Given the description of an element on the screen output the (x, y) to click on. 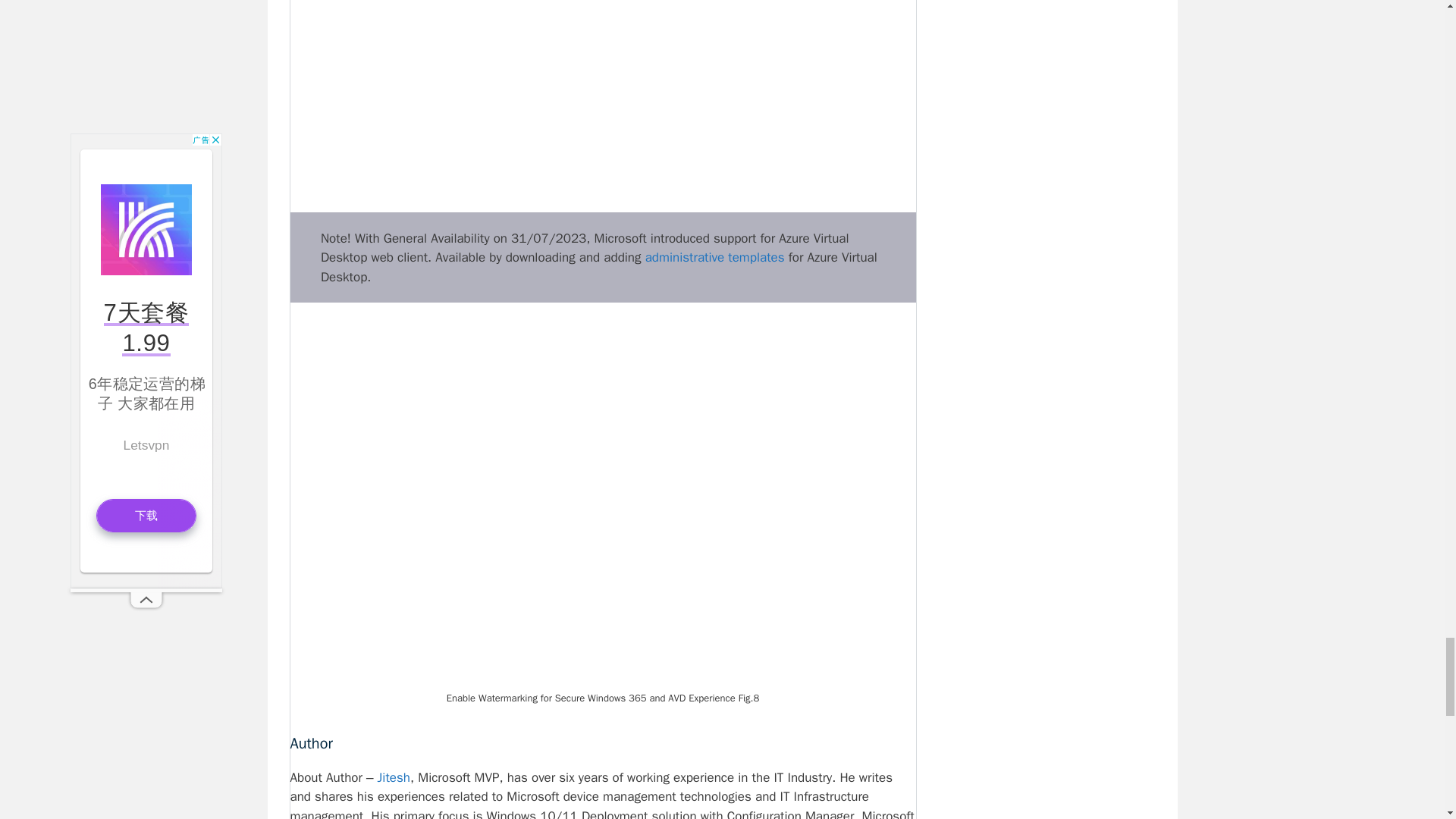
Jitesh (393, 777)
administrative templates (714, 257)
